Given the description of an element on the screen output the (x, y) to click on. 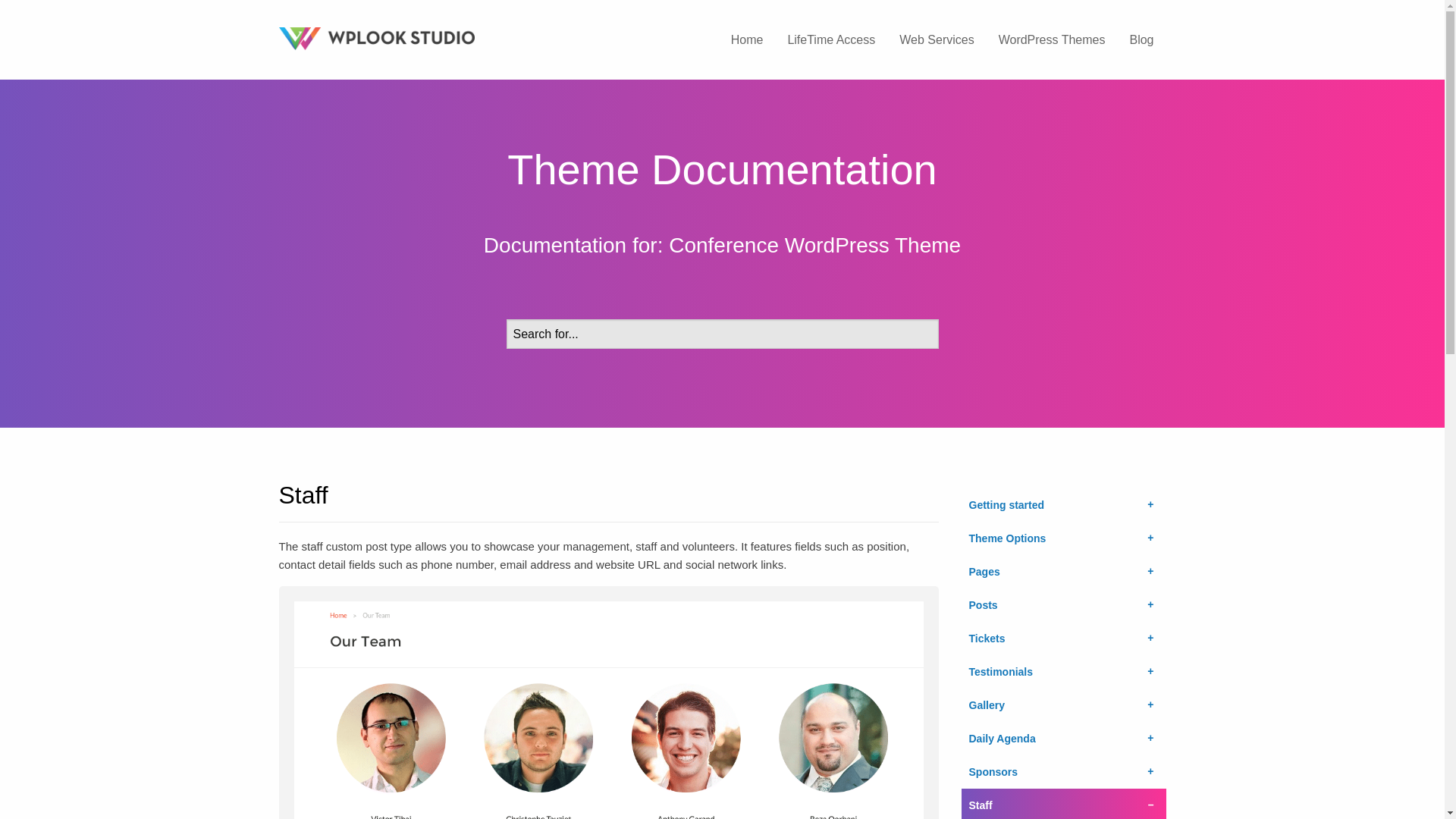
Theme Options (1063, 538)
WPlook Documentation -  (419, 37)
Pages (1063, 571)
LifeTime Access (830, 39)
Posts (1063, 604)
Home (747, 39)
Category Name (721, 245)
Getting started (1063, 504)
Web Services (935, 39)
Documentation for: Conference WordPress Theme (721, 245)
